Given the description of an element on the screen output the (x, y) to click on. 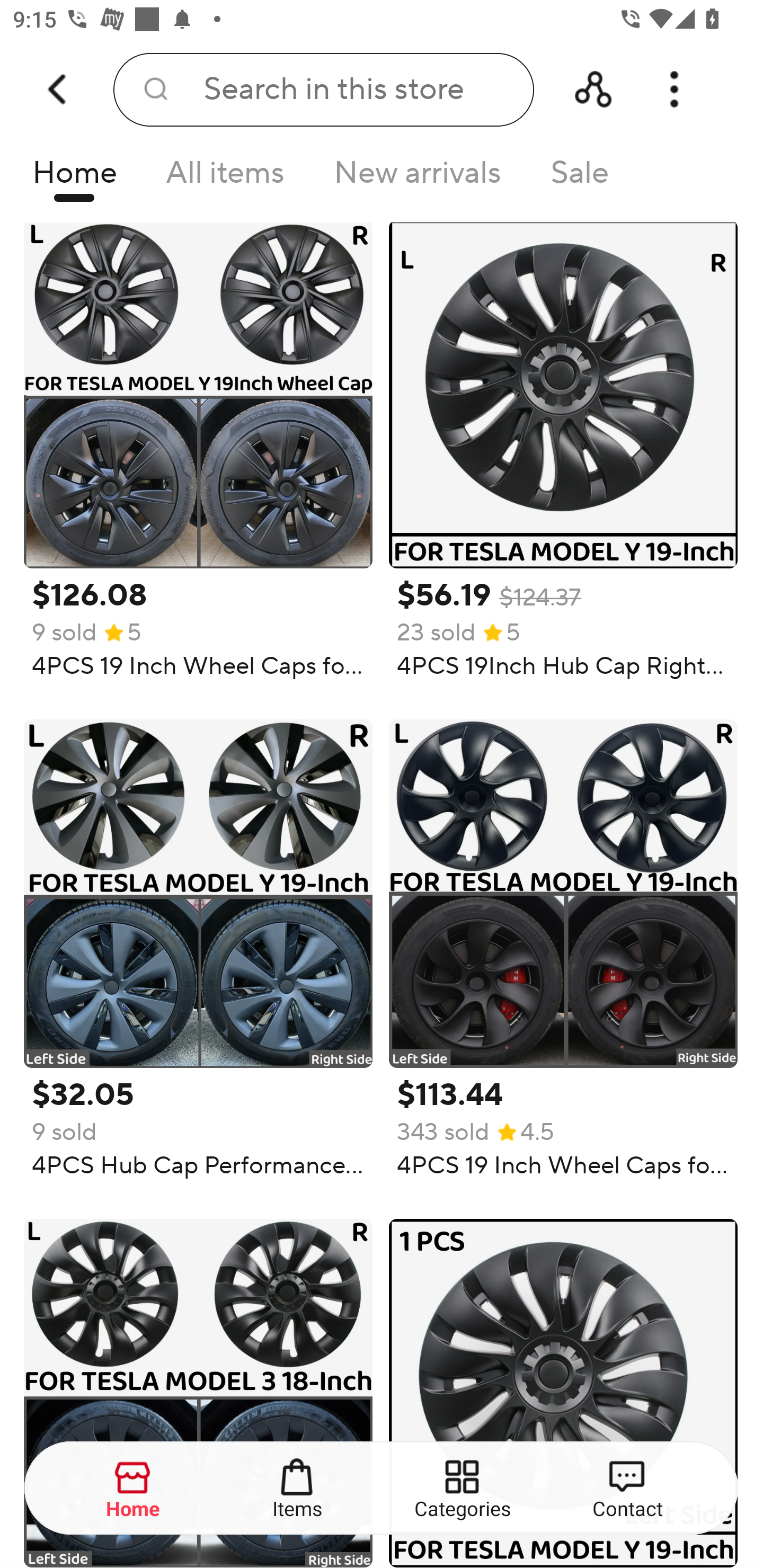
Search in this store (323, 90)
Home (74, 177)
All items (225, 177)
New arrivals
 (418, 177)
Sale (579, 177)
Home (133, 1488)
Items (297, 1488)
Categories (462, 1488)
Contact (627, 1488)
